Given the description of an element on the screen output the (x, y) to click on. 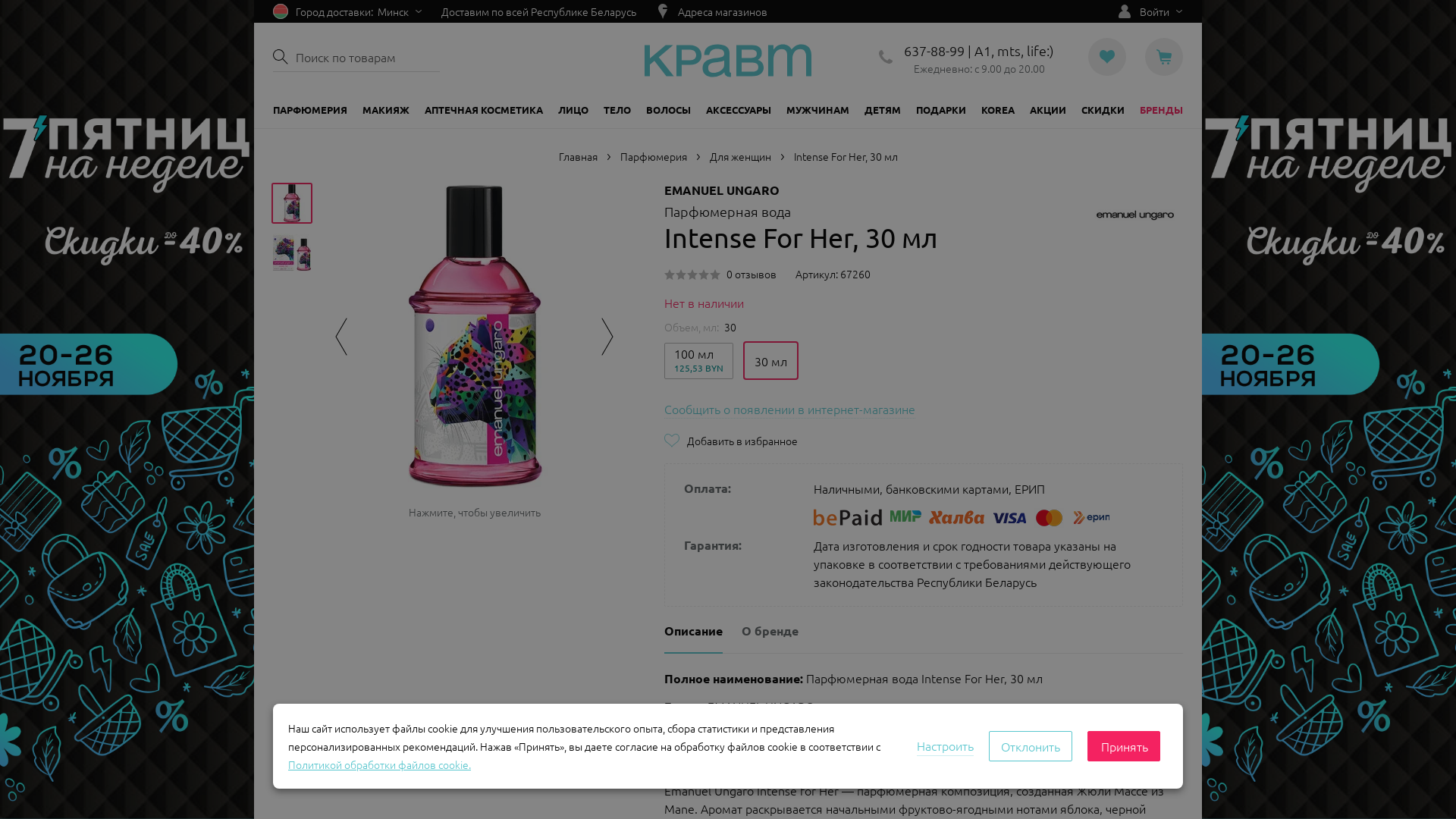
KOREA Element type: text (997, 109)
EMANUEL UNGARO Element type: text (721, 189)
